Given the description of an element on the screen output the (x, y) to click on. 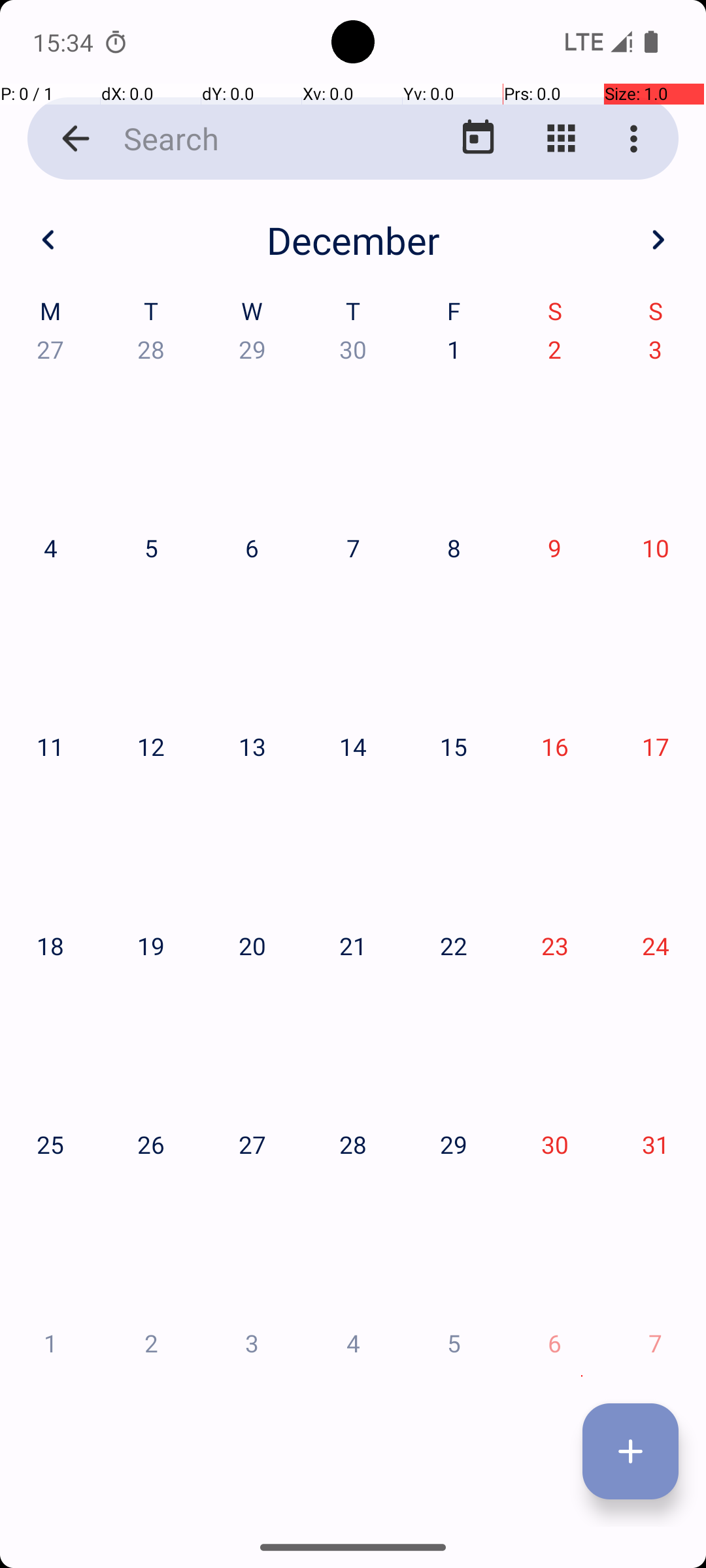
December Element type: android.widget.TextView (352, 239)
